Given the description of an element on the screen output the (x, y) to click on. 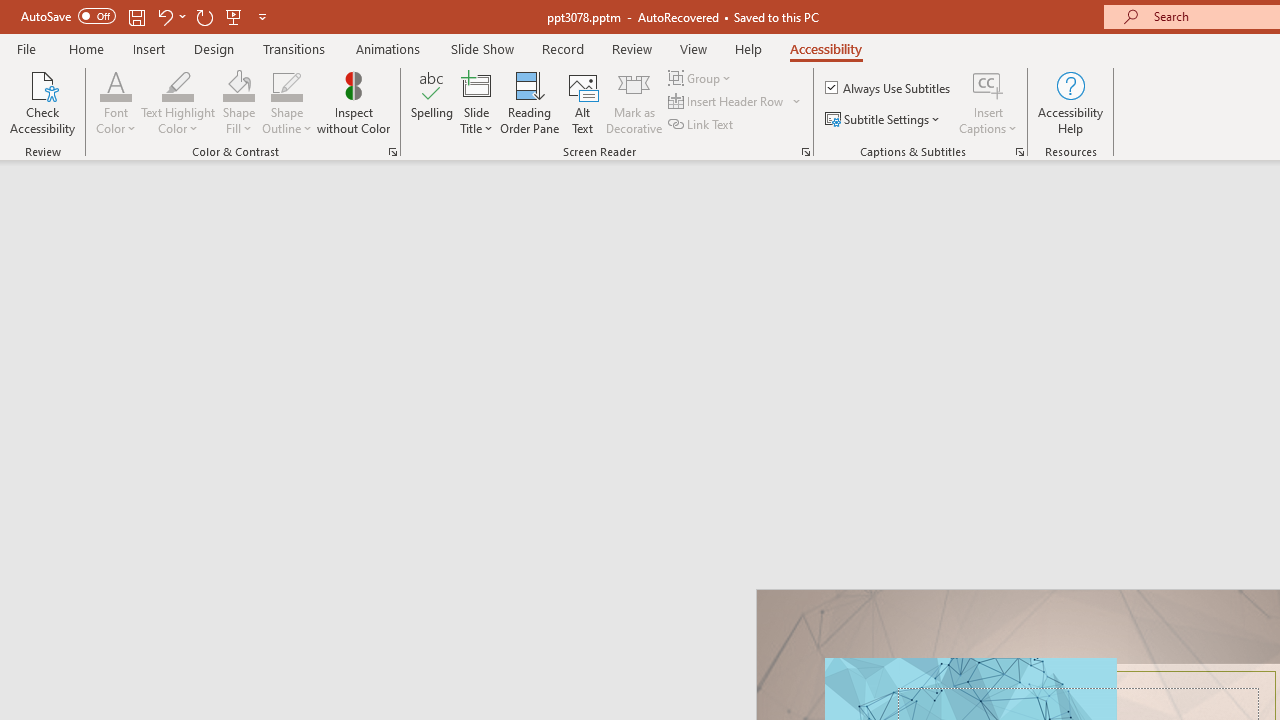
Group (701, 78)
Inspect without Color (353, 102)
